Given the description of an element on the screen output the (x, y) to click on. 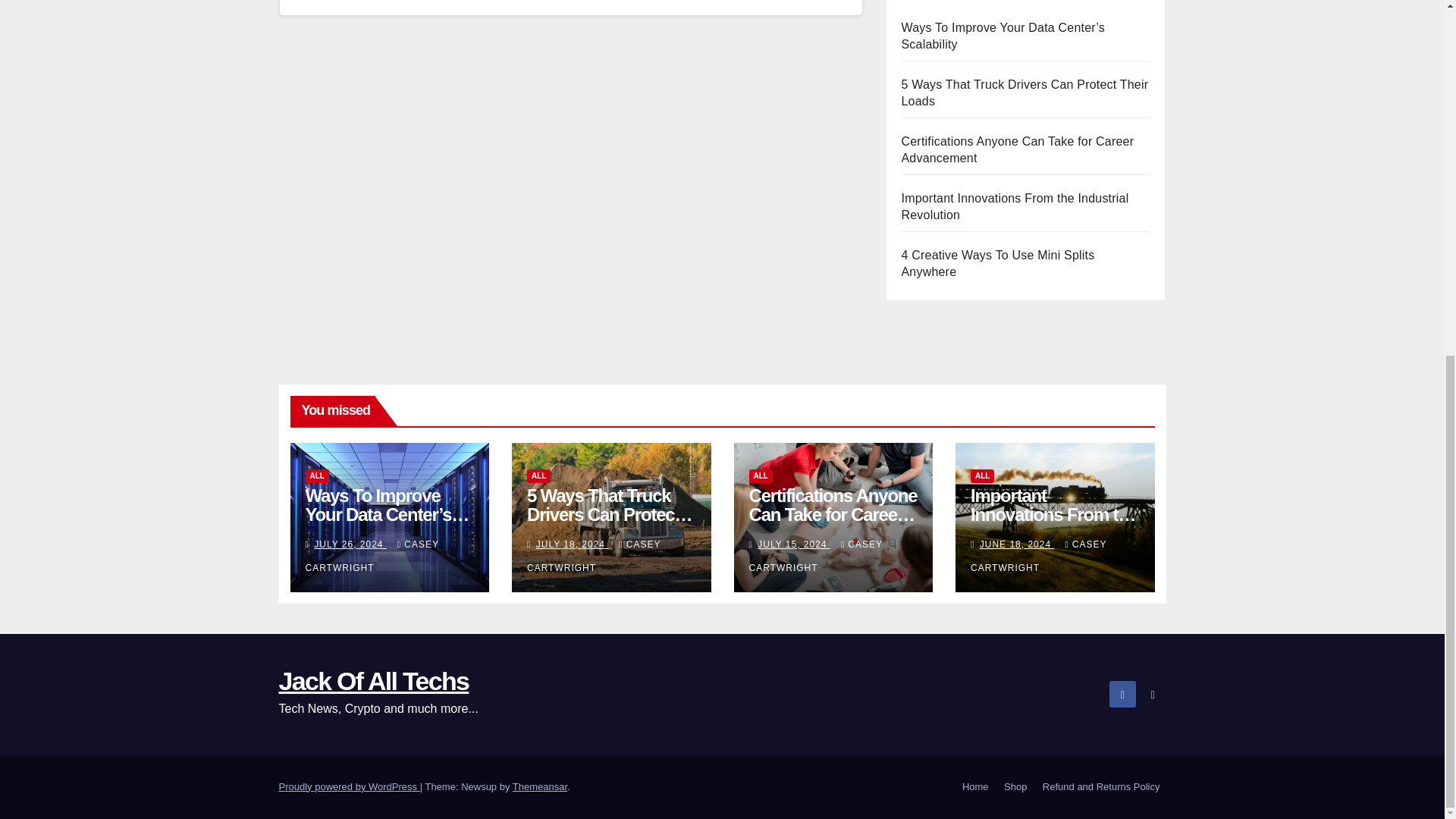
Home (975, 786)
CASEY CARTWRIGHT (371, 563)
Shop (1014, 786)
Refund and Returns Policy (1101, 786)
CASEY CARTWRIGHT (815, 563)
JULY 31, 2024 (571, 552)
ALL (761, 483)
Certifications Anyone Can Take for Career Advancement (1017, 286)
Permalink to: How To Measure the Success of Your Live Event (609, 522)
How To Measure the Success of Your Live Event (1017, 115)
